Given the description of an element on the screen output the (x, y) to click on. 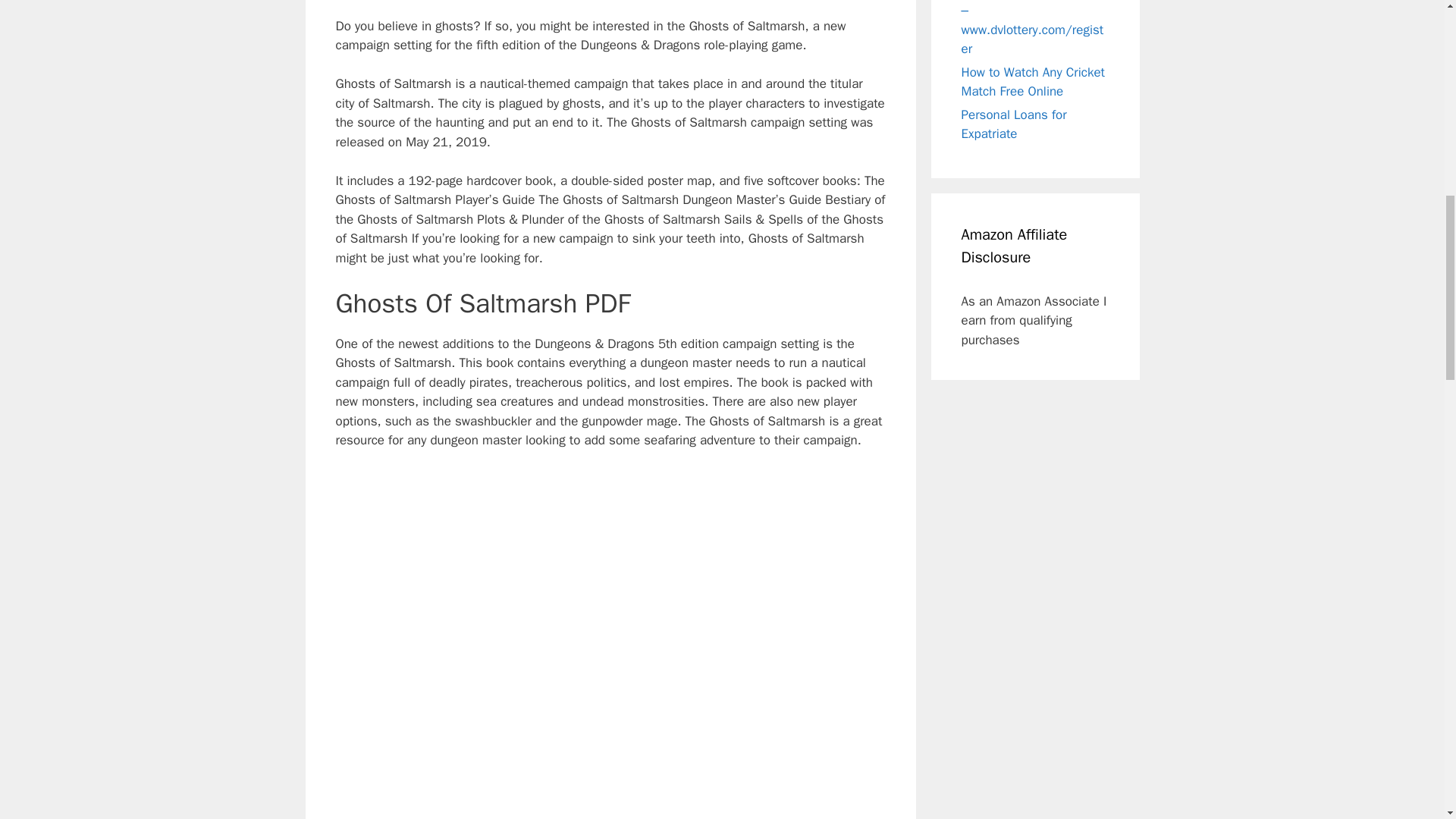
How to Watch Any Cricket Match Free Online (1032, 81)
Personal Loans for Expatriate (1013, 123)
Advertisement (610, 2)
